Given the description of an element on the screen output the (x, y) to click on. 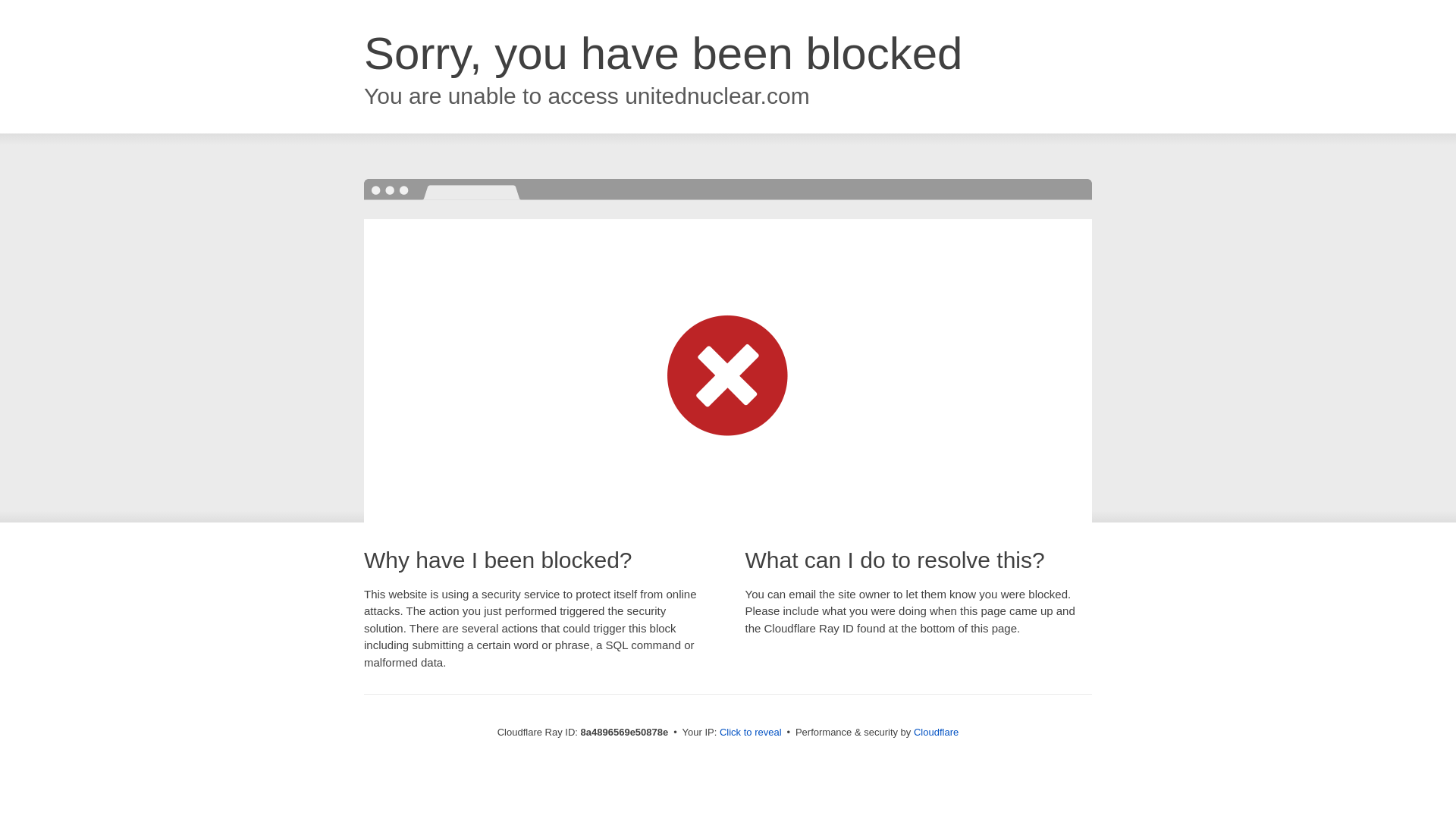
Click to reveal (750, 732)
Cloudflare (936, 731)
